Given the description of an element on the screen output the (x, y) to click on. 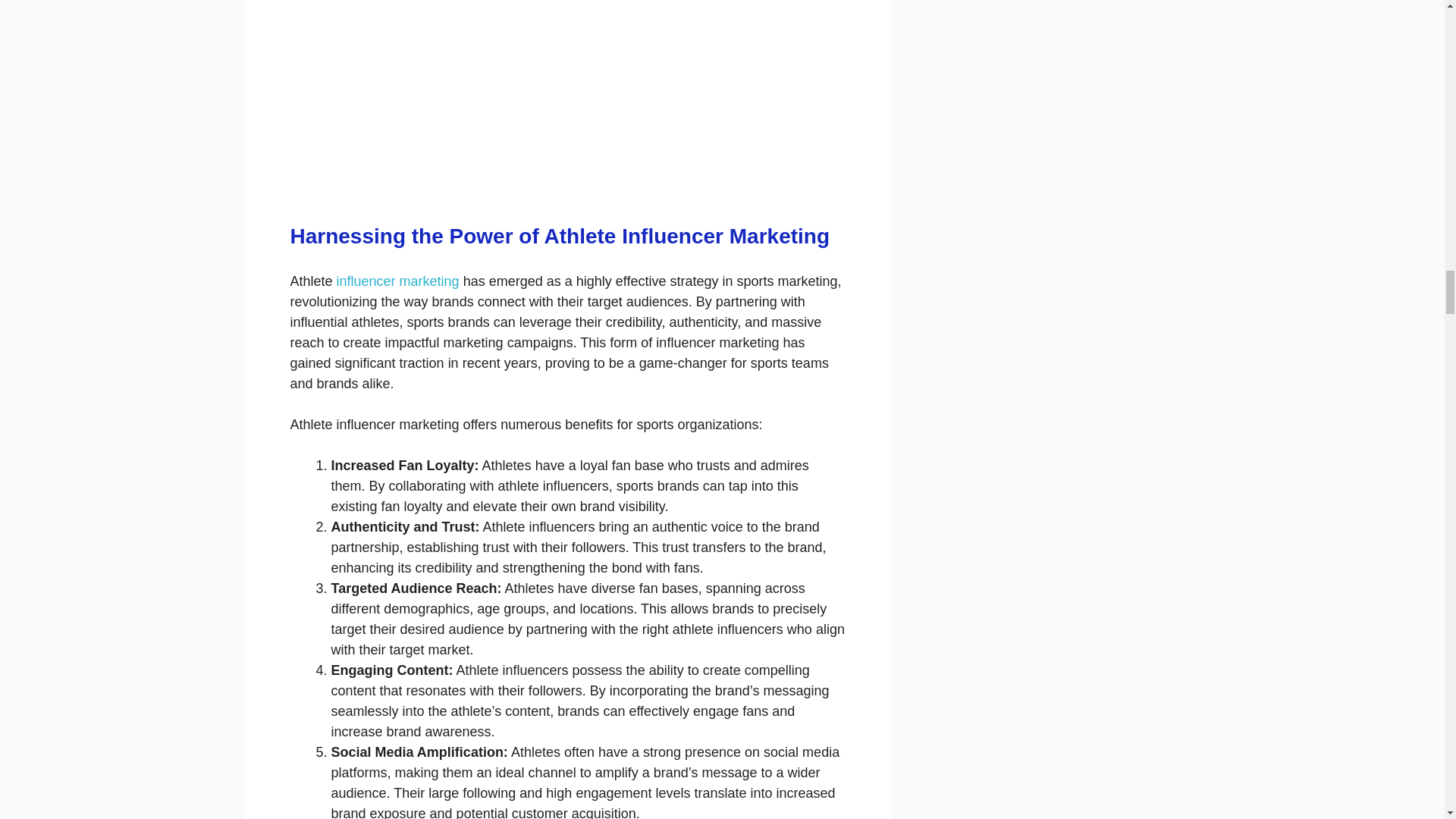
influencer marketing (398, 281)
influencer marketing (398, 281)
